Given the description of an element on the screen output the (x, y) to click on. 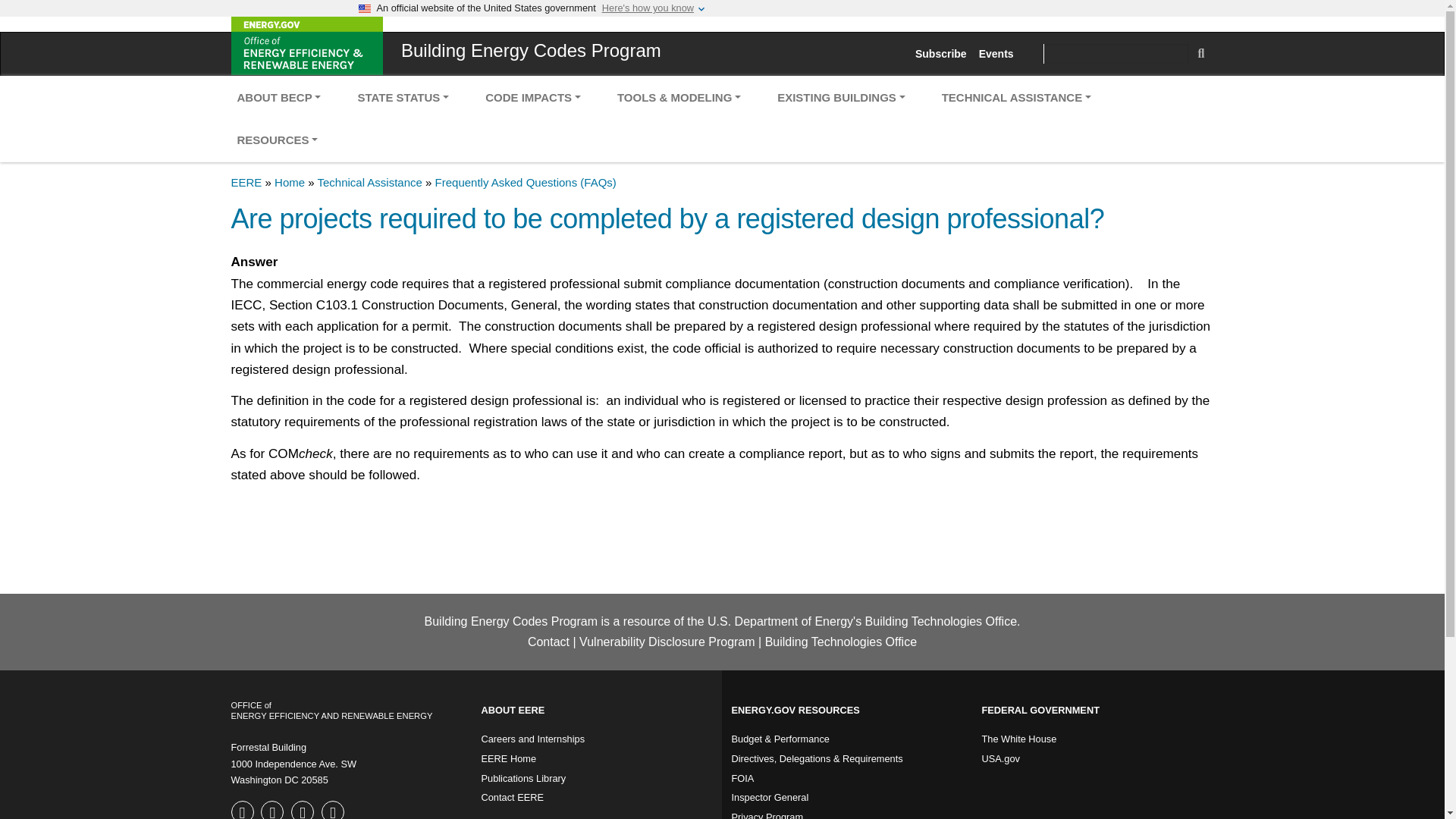
Compliance Tools and Modeling (678, 97)
Building Energy Codes Program (523, 50)
Impacts of Building Energy Codes (532, 97)
Search (1201, 53)
CODE IMPACTS (532, 97)
Events (996, 53)
TECHNICAL ASSISTANCE (1016, 97)
Upcoming Events (996, 53)
STATE STATUS (402, 97)
Subscribe (940, 53)
ABOUT BECP (278, 97)
Status of State Energy Code Adoption (402, 97)
Enter the terms you wish to search for. (1116, 53)
About the Building Energy Codes Program (278, 97)
Here's how you know (648, 8)
